Given the description of an element on the screen output the (x, y) to click on. 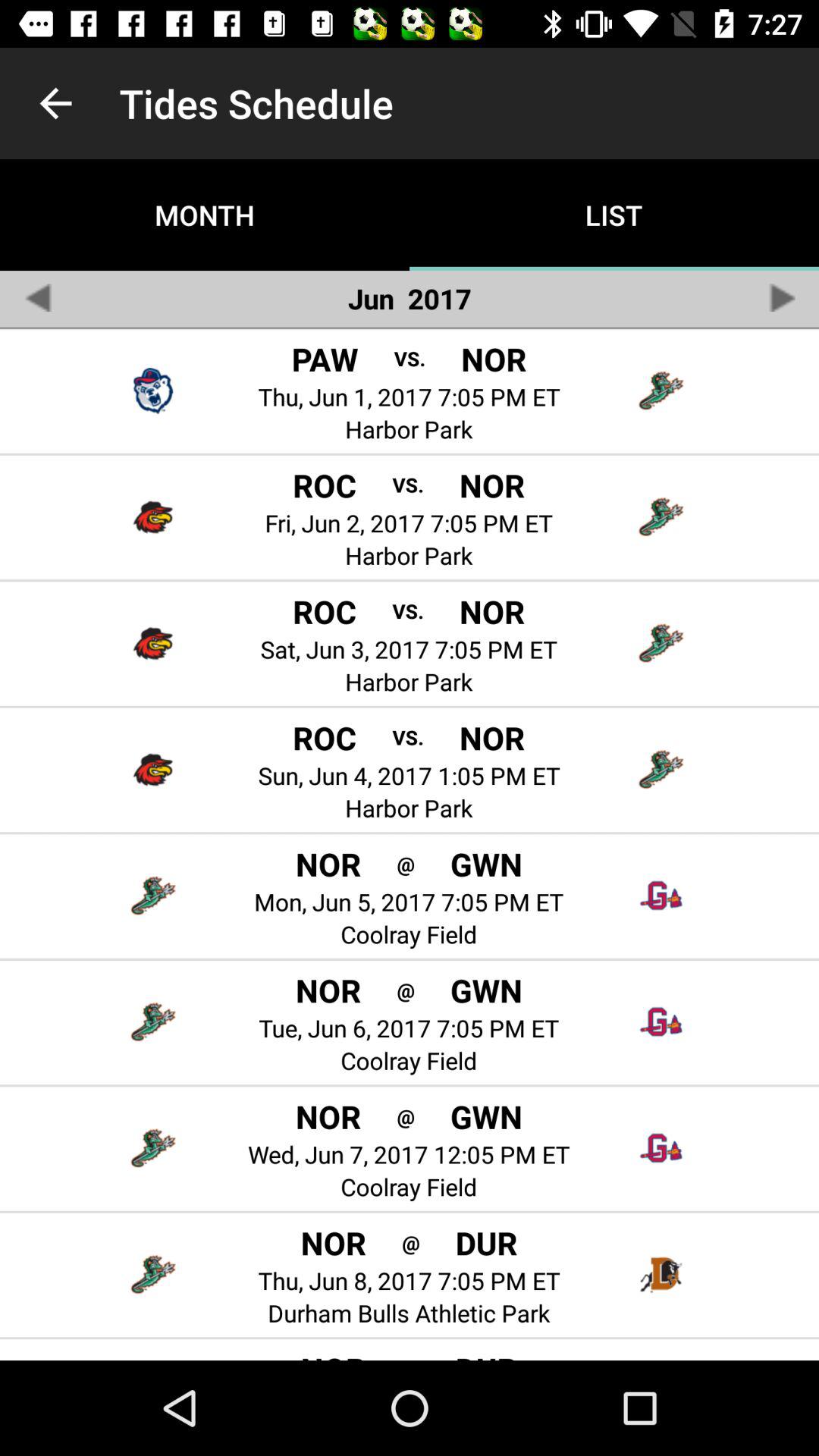
tap app above the mon jun 5 icon (405, 863)
